Given the description of an element on the screen output the (x, y) to click on. 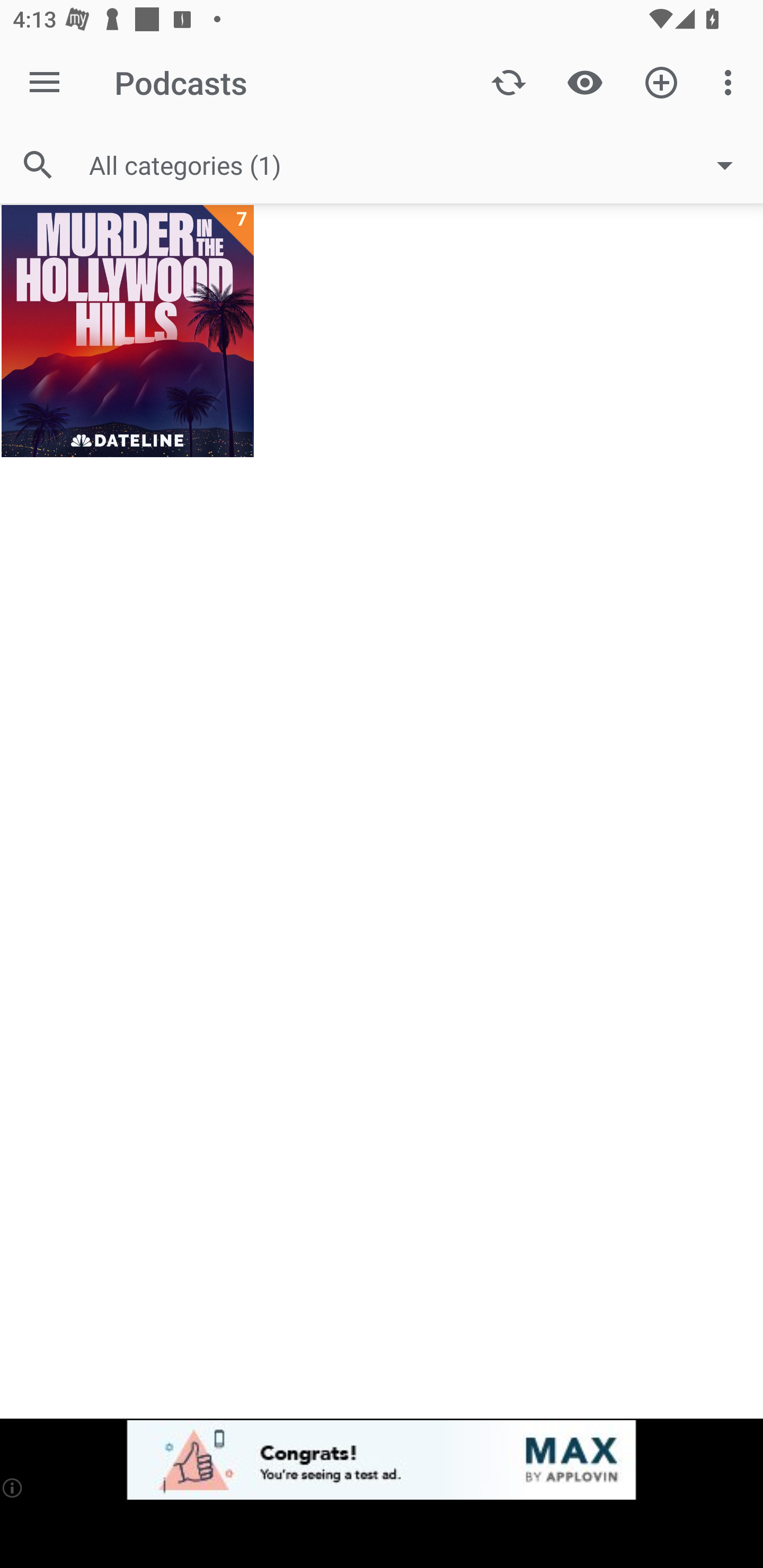
Open navigation sidebar (44, 82)
Update (508, 81)
Show / Hide played content (585, 81)
Add new Podcast (661, 81)
More options (731, 81)
Search (38, 165)
All categories (1) (419, 165)
Murder in the Hollywood Hills 7 (127, 331)
